Given the description of an element on the screen output the (x, y) to click on. 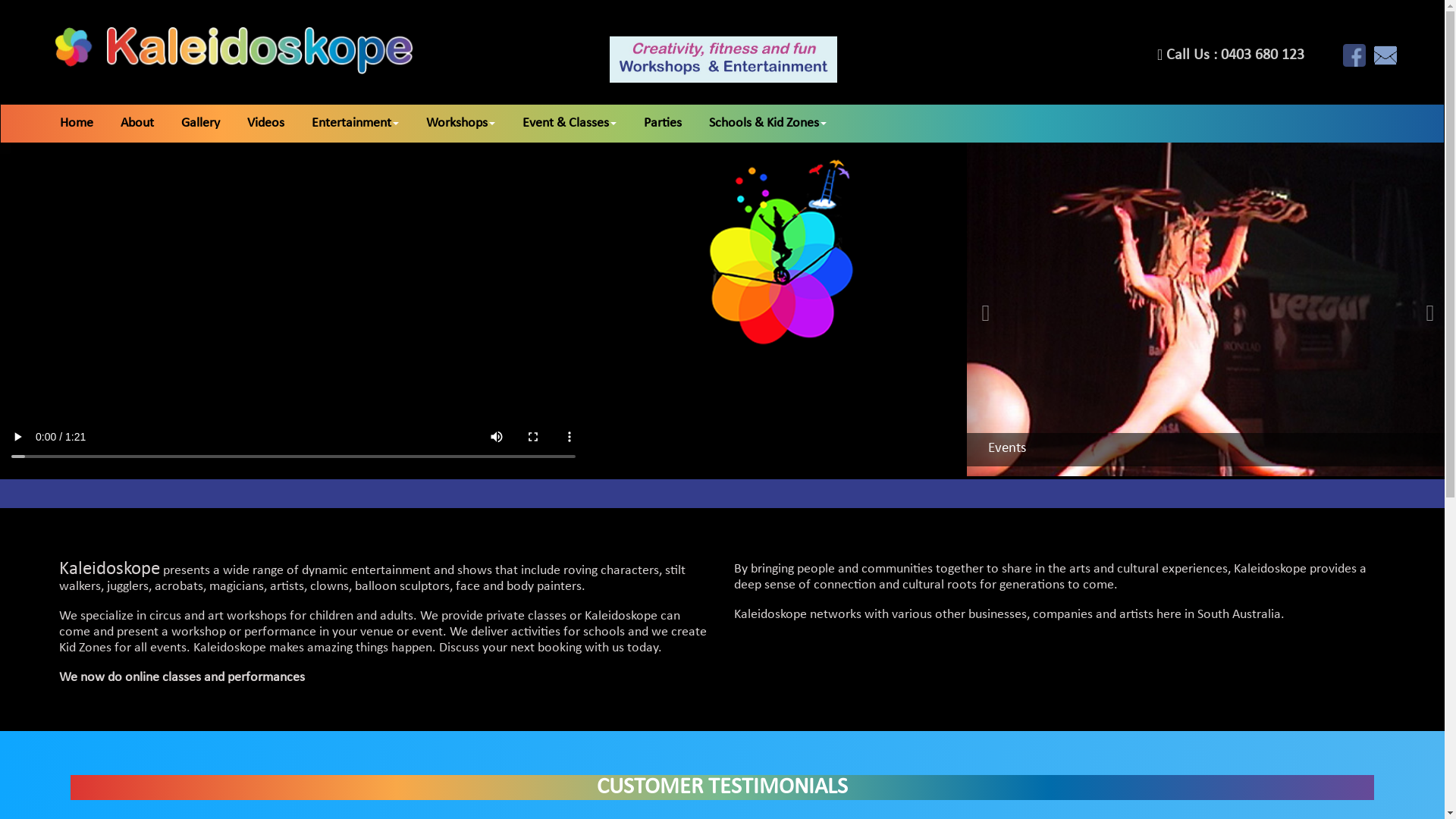
Parties Element type: text (676, 123)
Entertainment Element type: text (368, 123)
Call Us : 0403 680 123 Element type: text (1230, 55)
Videos Element type: text (279, 123)
Event & Classes Element type: text (582, 123)
Schools & Kid Zones Element type: text (781, 123)
Previous Element type: text (981, 309)
About Element type: text (150, 123)
Next Element type: text (1433, 309)
Home Element type: text (89, 123)
Gallery Element type: text (214, 123)
Workshops Element type: text (474, 123)
